Given the description of an element on the screen output the (x, y) to click on. 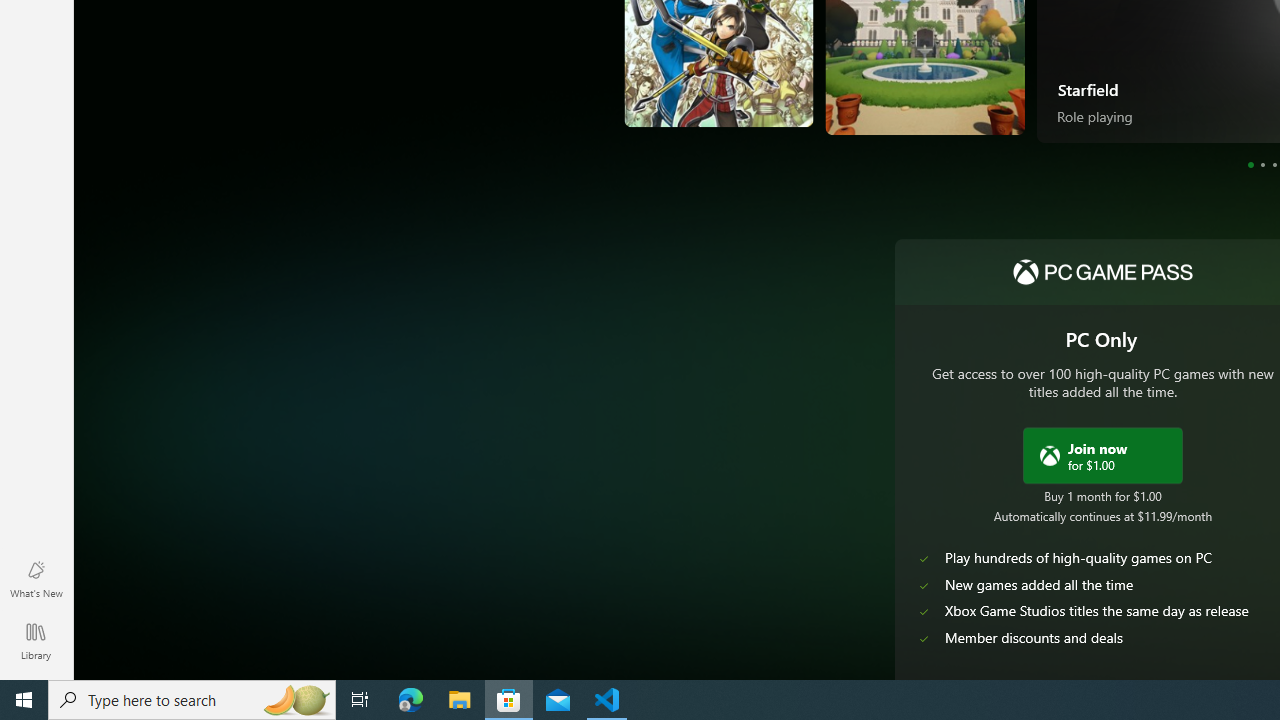
Starfield (1087, 88)
Play Trailer (1156, 101)
Eiyuden Chronicle: Hundred Heroes (672, 79)
Join PC Game Pass now for $1.00 (1102, 454)
PC Game Pass logo (1101, 272)
Page 2 (1262, 164)
Page 1 (1250, 164)
Botany Manor (726, 83)
